Given the description of an element on the screen output the (x, y) to click on. 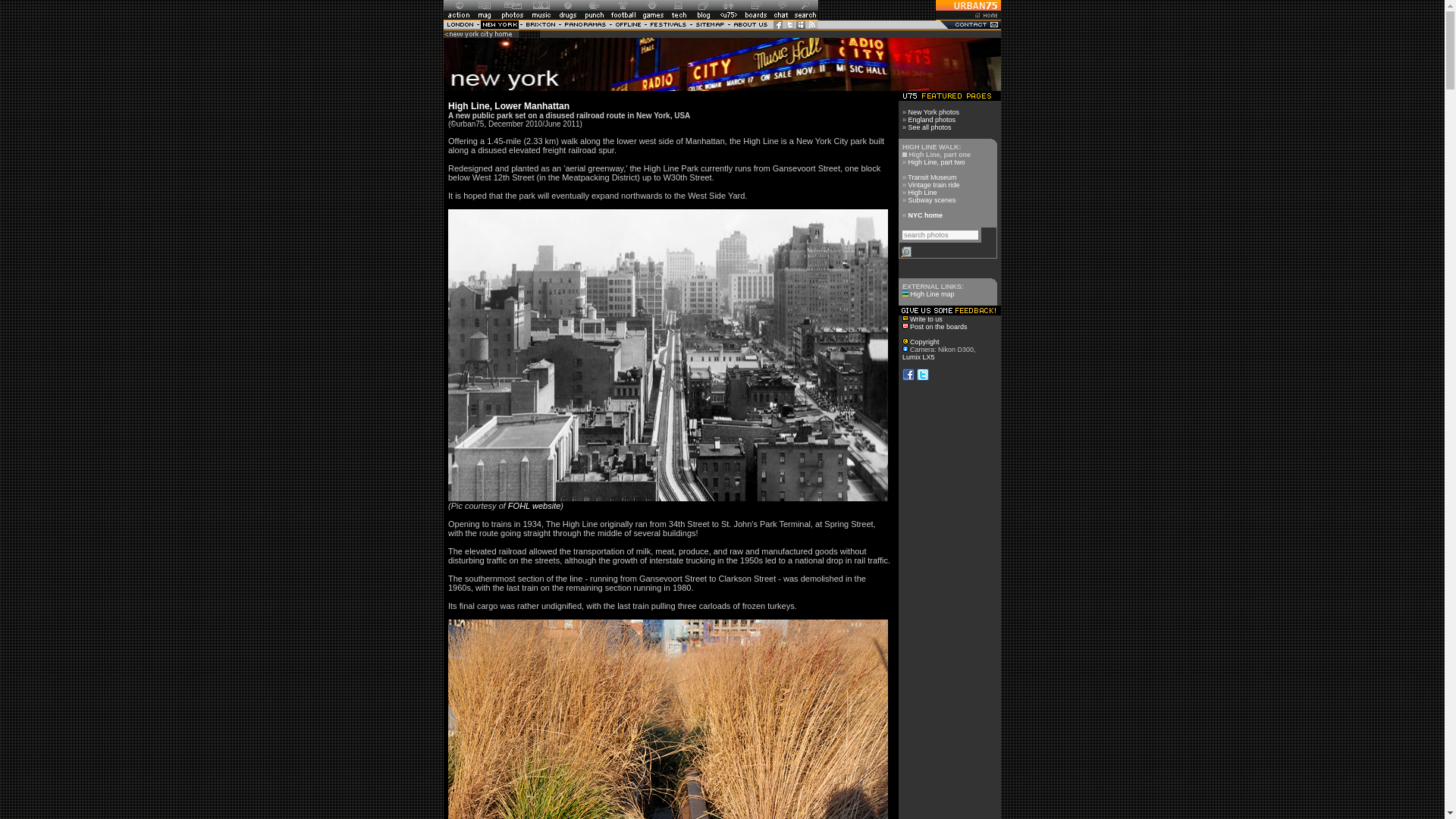
New York photos (933, 112)
FOHL website (534, 505)
search photos (940, 234)
Search (907, 249)
